Given the description of an element on the screen output the (x, y) to click on. 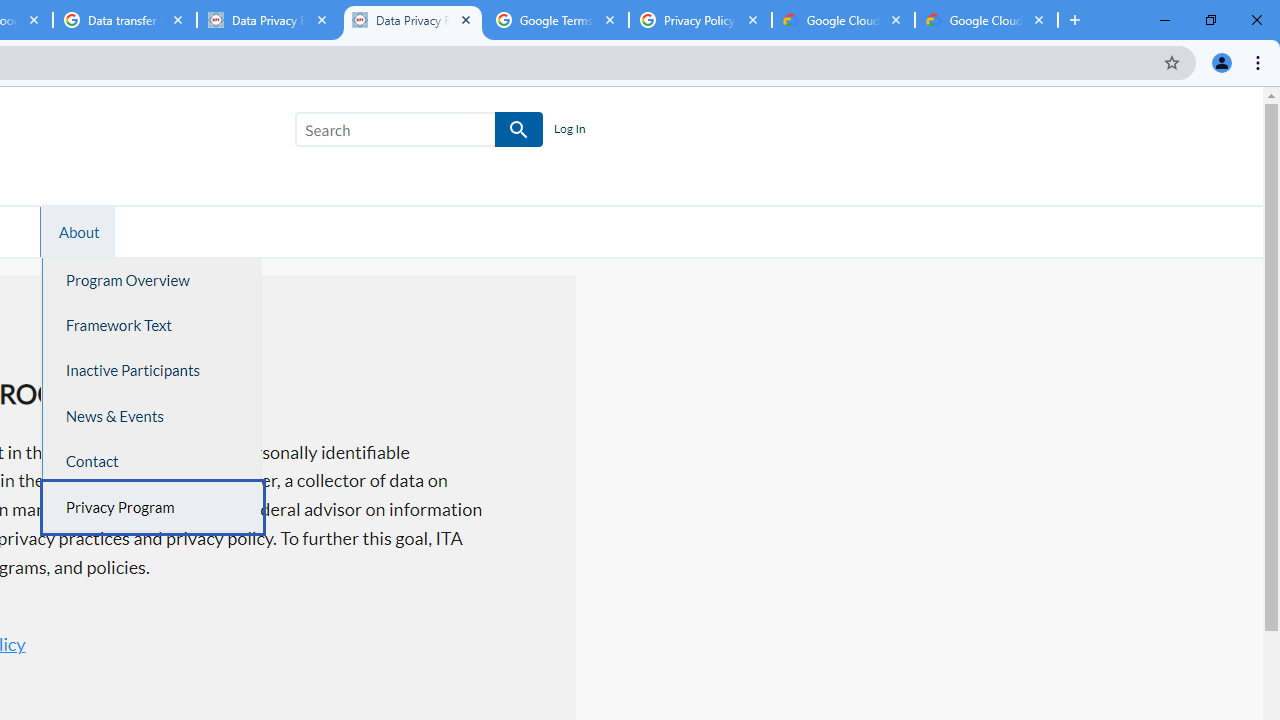
Program Overview (151, 280)
Data Privacy Framework (268, 20)
About (79, 231)
Inactive Participants (151, 370)
Google Cloud Privacy Notice (986, 20)
AutomationID: navitem2 (76, 231)
Google Cloud Privacy Notice (843, 20)
